Given the description of an element on the screen output the (x, y) to click on. 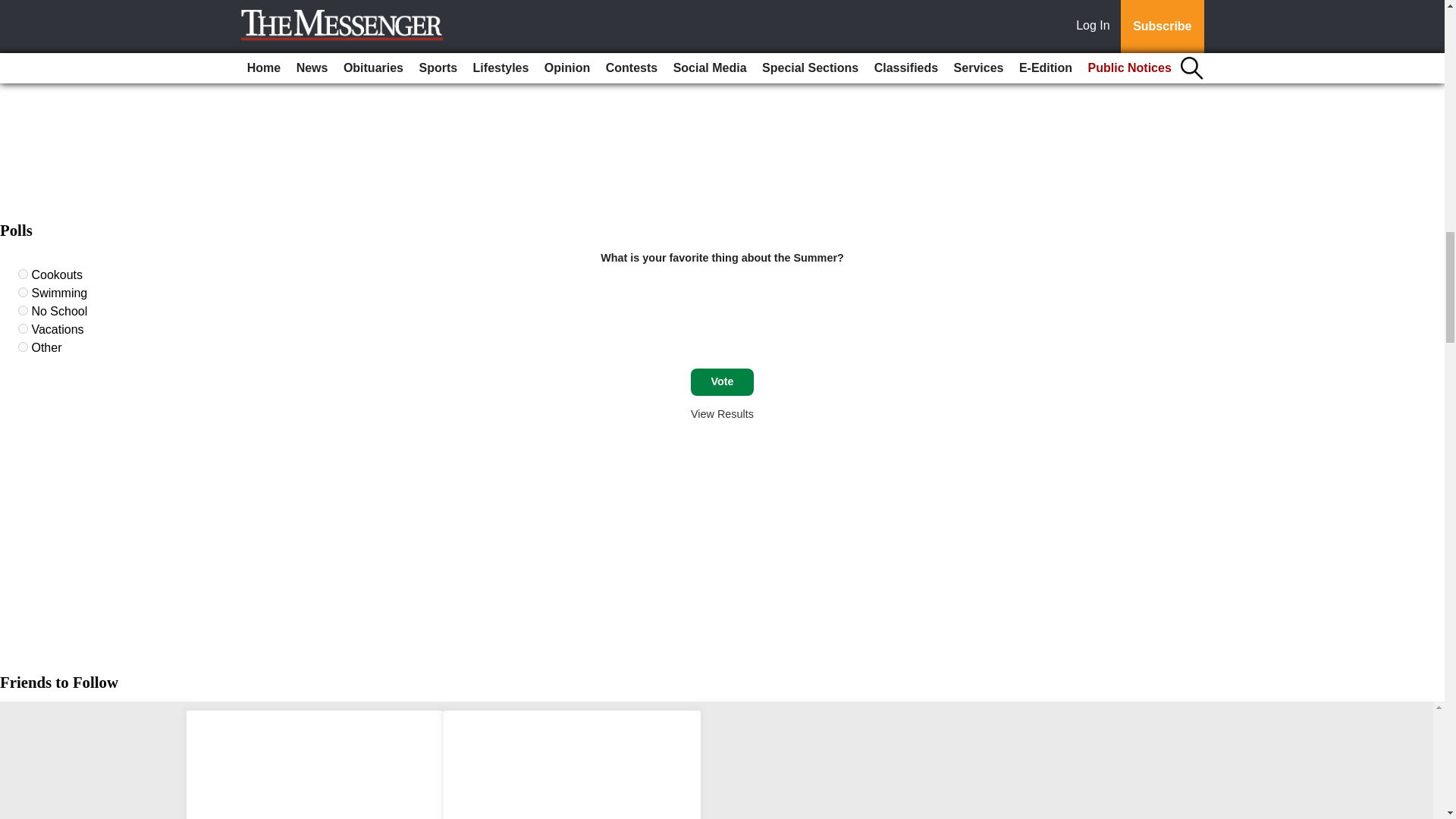
7274 (22, 274)
7275 (22, 292)
7277 (22, 328)
7278 (22, 347)
7276 (22, 310)
View Results Of This Poll (722, 413)
   Vote    (722, 381)
